Given the description of an element on the screen output the (x, y) to click on. 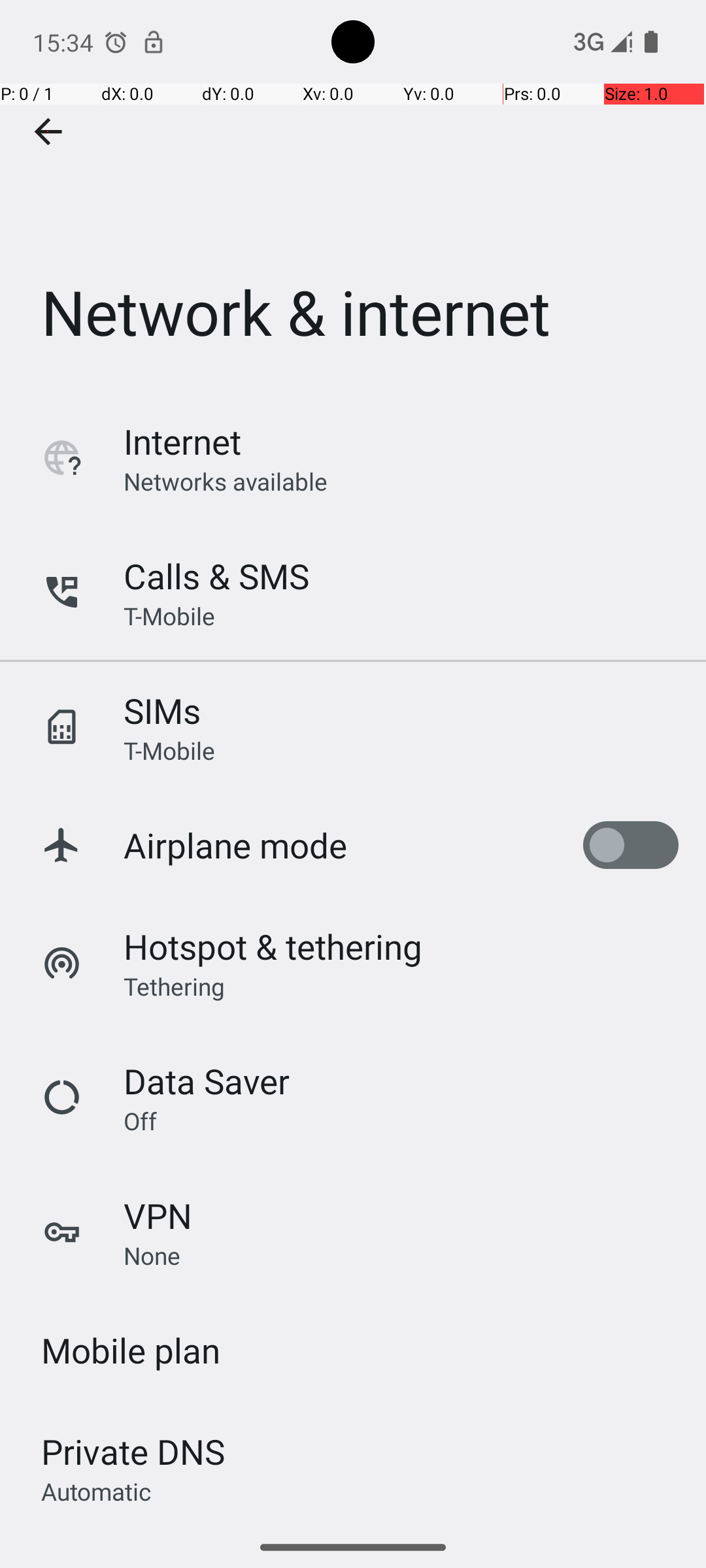
Tethering Element type: android.widget.TextView (174, 985)
